Given the description of an element on the screen output the (x, y) to click on. 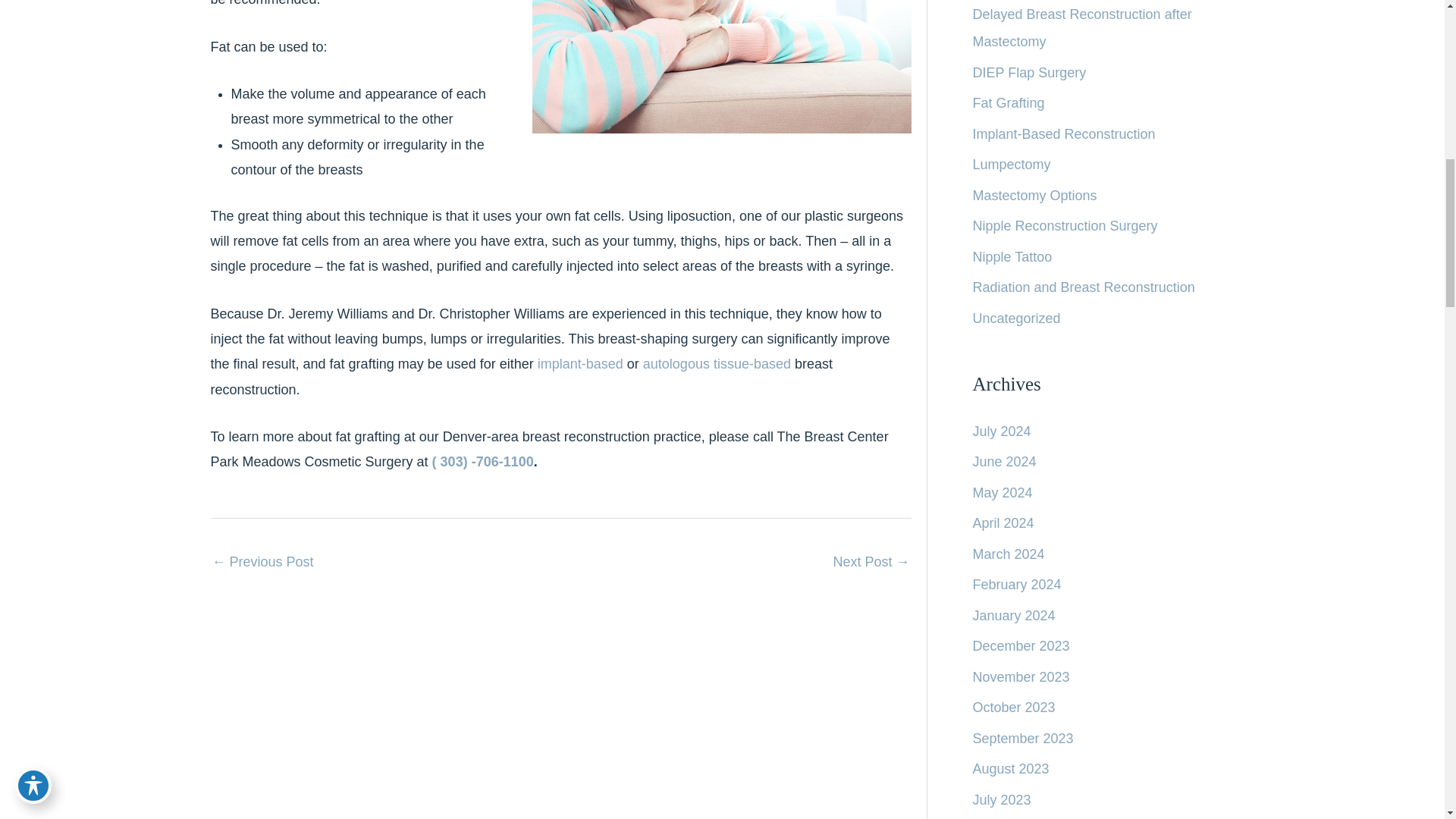
How Long Do Breast Reconstruction Results Last? (263, 563)
